Given the description of an element on the screen output the (x, y) to click on. 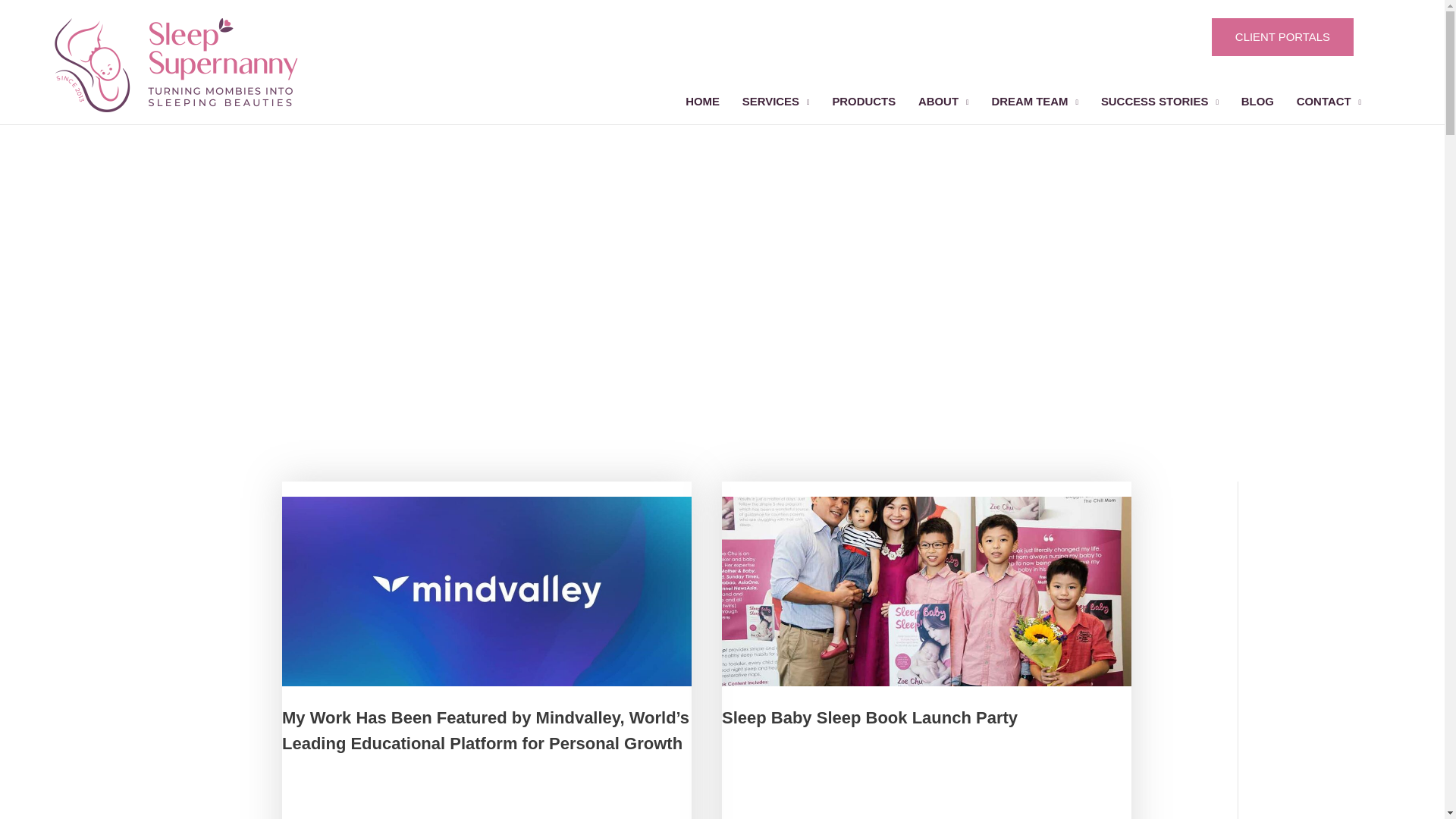
DREAM TEAM (1034, 101)
CONTACT (1329, 101)
ABOUT (943, 101)
SERVICES (775, 101)
HOME (702, 101)
SUCCESS STORIES (1159, 101)
PRODUCTS (864, 101)
BLOG (1257, 101)
CLIENT PORTALS (1282, 36)
